Given the description of an element on the screen output the (x, y) to click on. 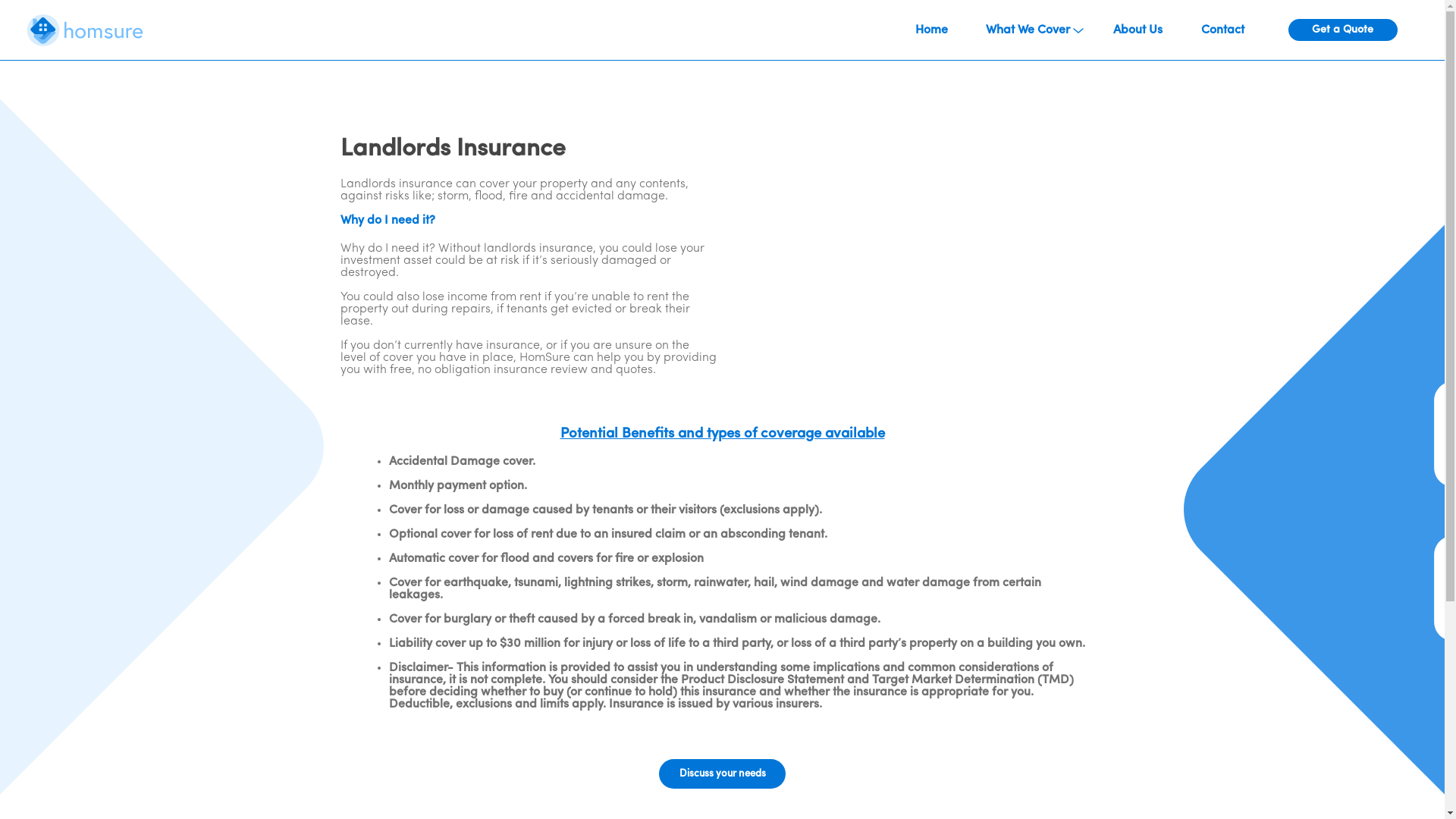
Get a Quote Element type: text (1342, 29)
Discuss your needs Element type: text (721, 774)
Contact Element type: text (1222, 30)
Home Element type: text (931, 30)
Discuss your needs Element type: text (721, 773)
About Us Element type: text (1137, 30)
Get a Quote Element type: text (1342, 29)
What We Cover Element type: text (1034, 30)
